Given the description of an element on the screen output the (x, y) to click on. 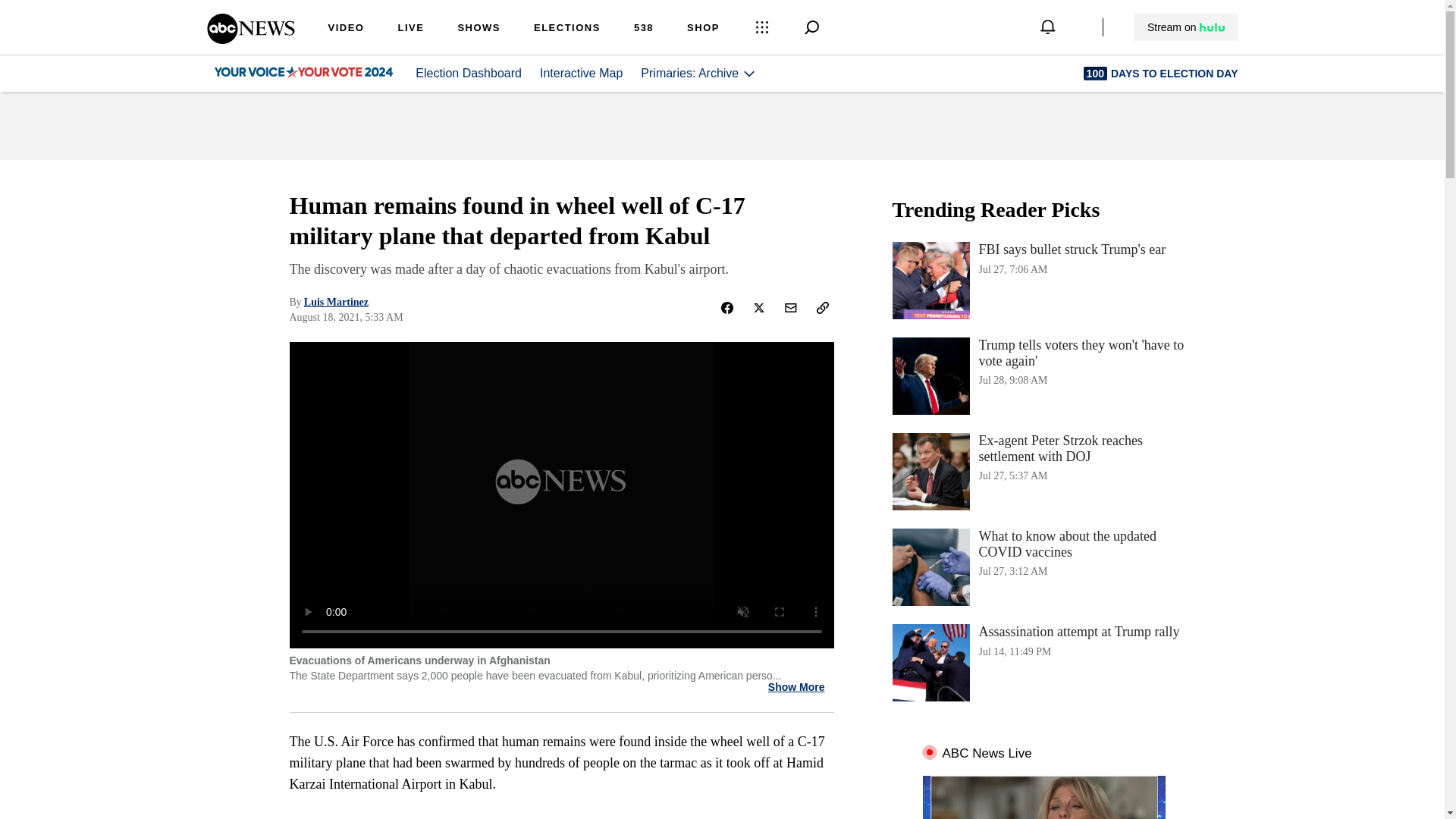
SHOWS (478, 28)
538 (643, 28)
Election Dashboard (467, 73)
Primaries: Archive (698, 73)
ELECTIONS (566, 28)
SHOP (703, 28)
Stream on (1185, 27)
Luis Martinez (336, 301)
LIVE (410, 28)
ABC News (1043, 280)
